Given the description of an element on the screen output the (x, y) to click on. 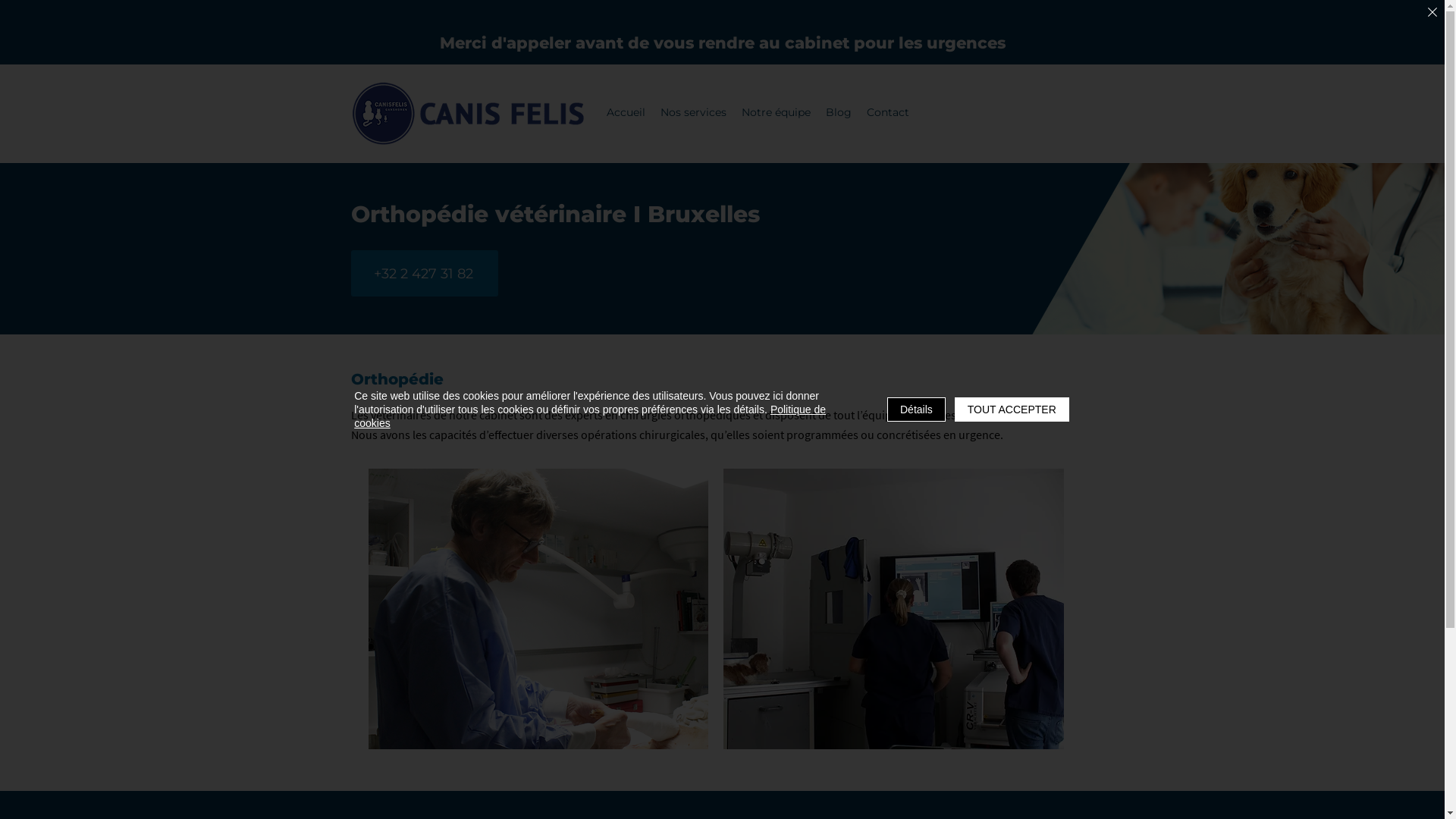
Blog Element type: text (837, 113)
+32 2 427 31 82 Element type: text (423, 273)
TOUT ACCEPTER Element type: text (1011, 409)
Nos services Element type: text (692, 113)
Politique de cookies Element type: text (589, 416)
Contact Element type: text (887, 113)
Accueil Element type: text (625, 113)
